Given the description of an element on the screen output the (x, y) to click on. 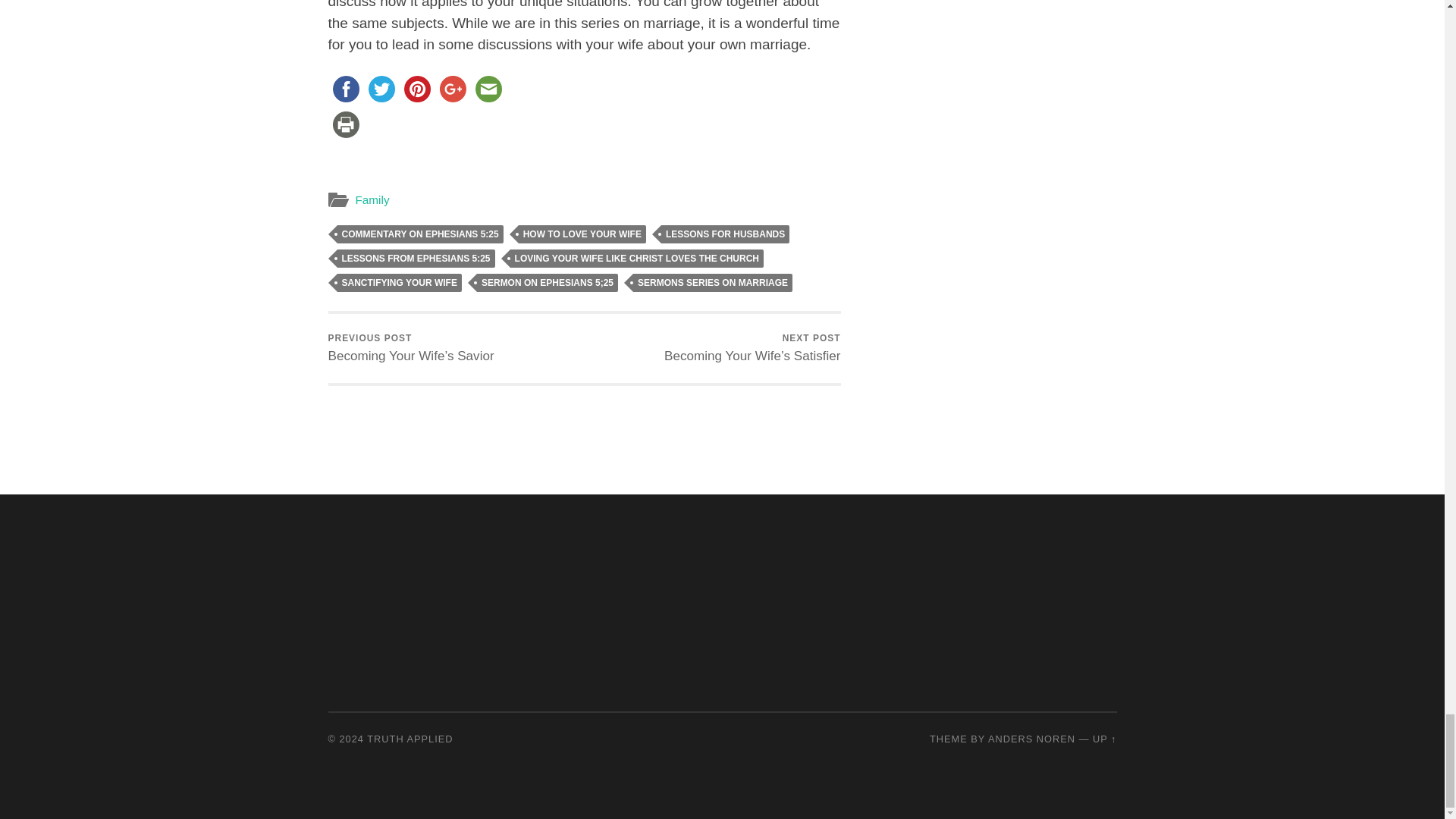
pinterest (415, 89)
facebook (344, 89)
To the top (1104, 738)
twitter (381, 89)
email (487, 89)
google (452, 89)
print (344, 124)
